Given the description of an element on the screen output the (x, y) to click on. 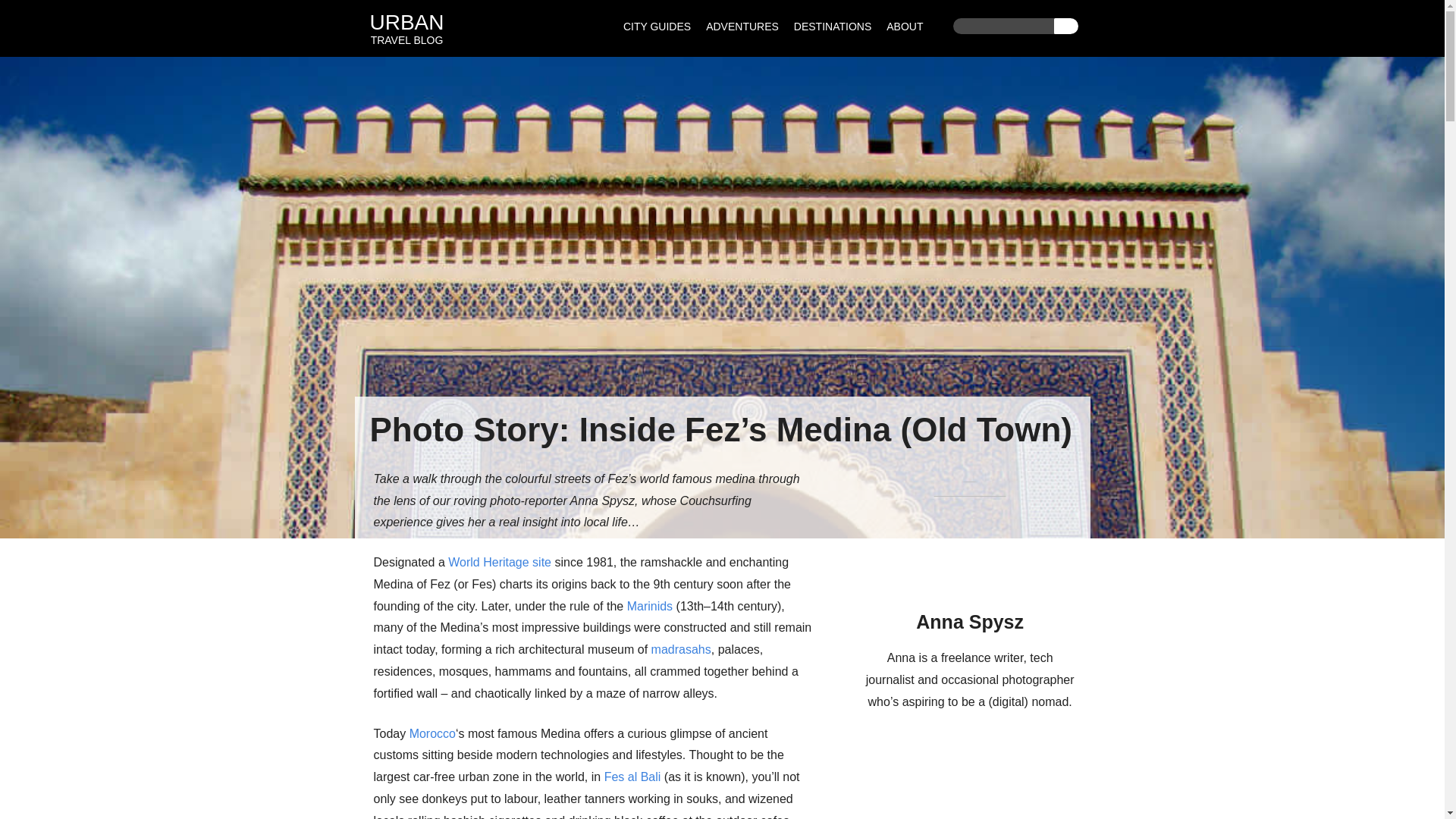
CITY GUIDES (656, 28)
Q (1066, 26)
Urban Travel Blog (406, 39)
Morocco (432, 733)
Fes al Bali (632, 776)
ABOUT (904, 28)
Q (1066, 26)
Marinids (649, 605)
World Heritage site (499, 562)
madrasahs (680, 649)
ADVENTURES (406, 39)
Q (742, 28)
DESTINATIONS (1066, 26)
